Given the description of an element on the screen output the (x, y) to click on. 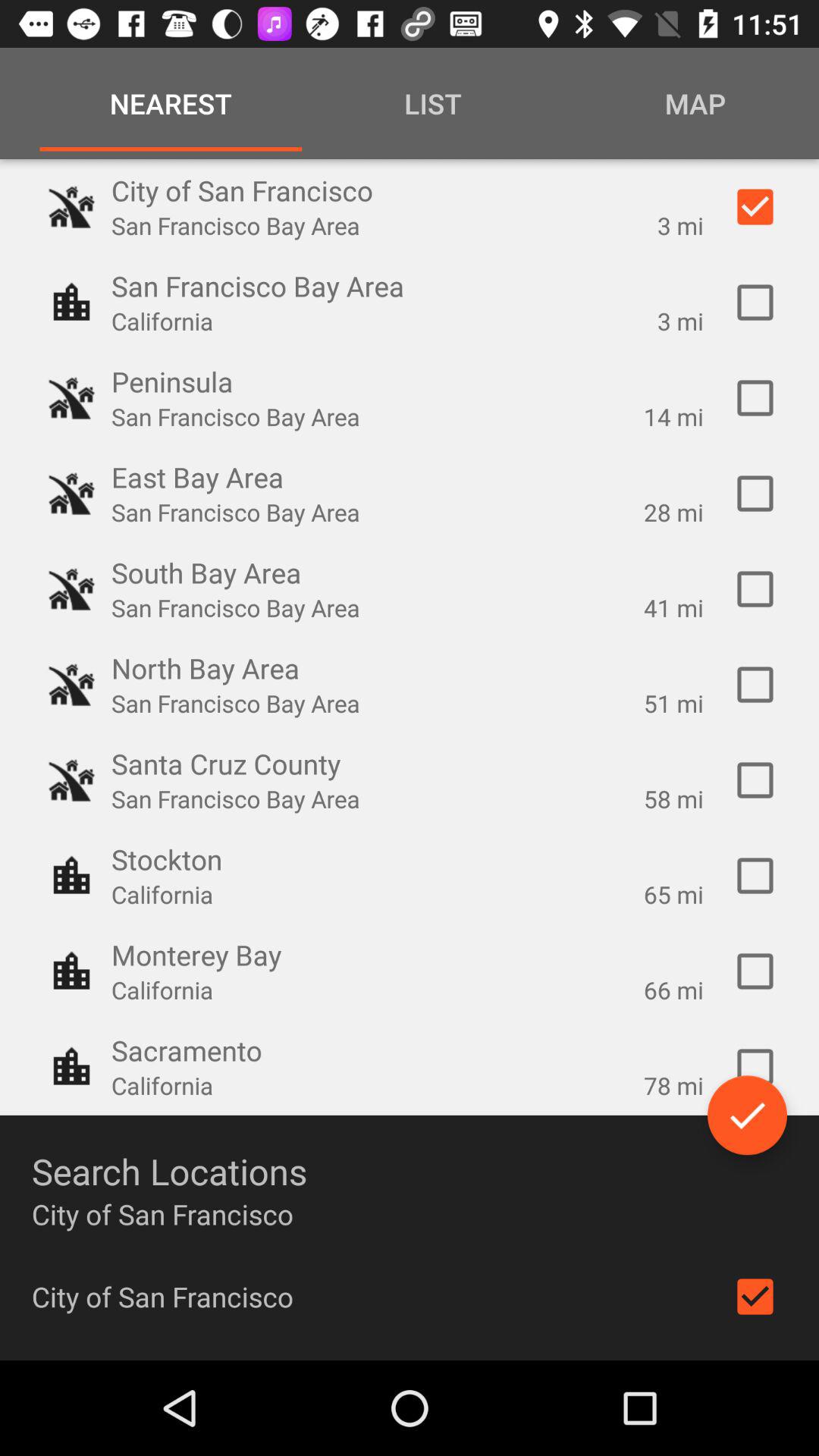
select the approve option below (747, 1115)
